Given the description of an element on the screen output the (x, y) to click on. 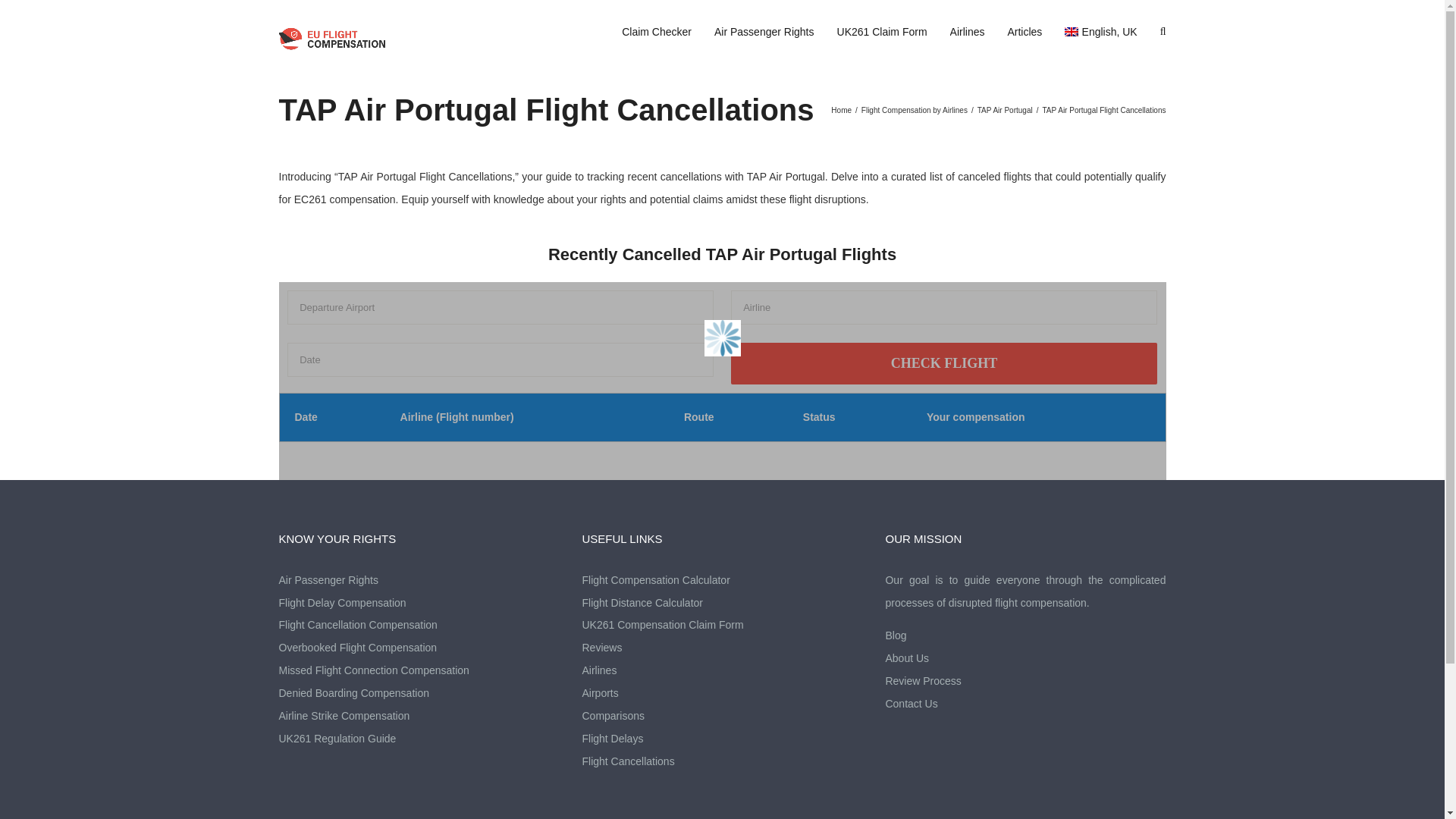
TAP Air Portugal (1004, 110)
Air Passenger Rights (763, 31)
Flight Cancellation Compensation (419, 625)
Overbooked Flight Compensation (419, 648)
Home (841, 110)
Missed Flight Connection Compensation (419, 671)
CHECK FLIGHT (943, 363)
Air Passenger Rights (419, 580)
English, UK (1100, 31)
Flight Delay Compensation (419, 603)
